Given the description of an element on the screen output the (x, y) to click on. 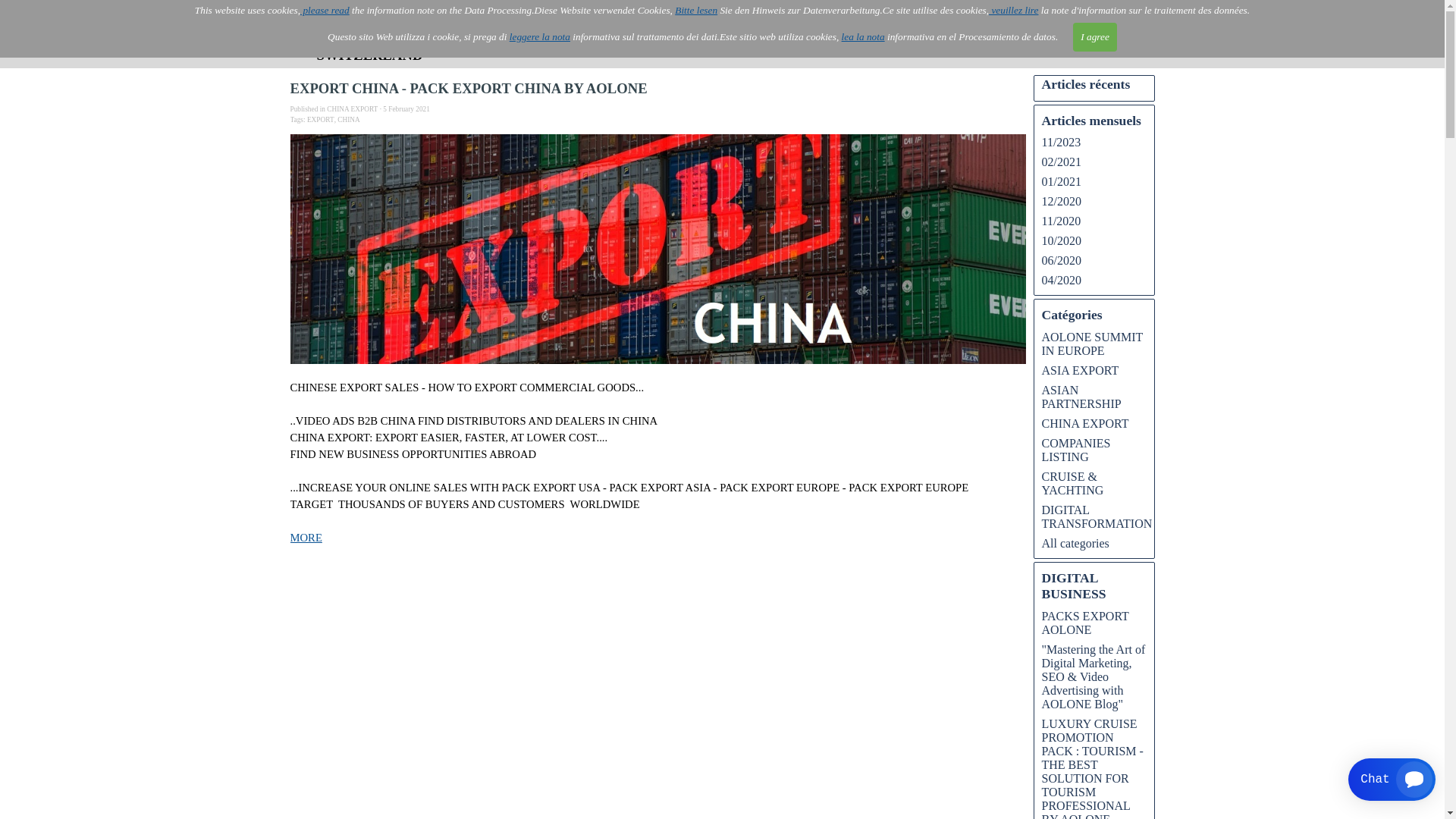
CHINA Element type: text (348, 119)
AOLONE Element type: text (513, 34)
MORE Element type: text (305, 537)
please read Element type: text (324, 9)
ASIA EXPORT Element type: text (1080, 370)
PACKS EXPORT AOLONE Element type: text (1085, 622)
veuillez lire Element type: text (1013, 9)
CRUISE & YACHTING Element type: text (1072, 483)
02/2021 Element type: text (1061, 161)
CHINA EXPORT Element type: text (351, 108)
EXPORT Element type: text (320, 119)
10/2020 Element type: text (1061, 240)
DIGITAL TRANSFORMATION Element type: text (1096, 516)
11/2020 Element type: text (1061, 220)
AOLONE SUMMIT IN EUROPE Element type: text (1092, 343)
CHINA EXPORT Element type: text (1085, 423)
Blog Element type: text (1001, 34)
06/2020 Element type: text (1061, 260)
COMPANIES LISTING Element type: text (1075, 449)
11/2023 Element type: text (1061, 141)
Smartsupp widget button Element type: hover (1391, 779)
Video Element type: text (722, 34)
lea la nota Element type: text (862, 36)
Bitte lesen Element type: text (695, 9)
All categories Element type: text (1075, 542)
ASIAN PARTNERSHIP Element type: text (1081, 396)
12/2020 Element type: text (1061, 200)
01/2021 Element type: text (1061, 181)
04/2020 Element type: text (1061, 279)
leggere la nota Element type: text (539, 36)
